Given the description of an element on the screen output the (x, y) to click on. 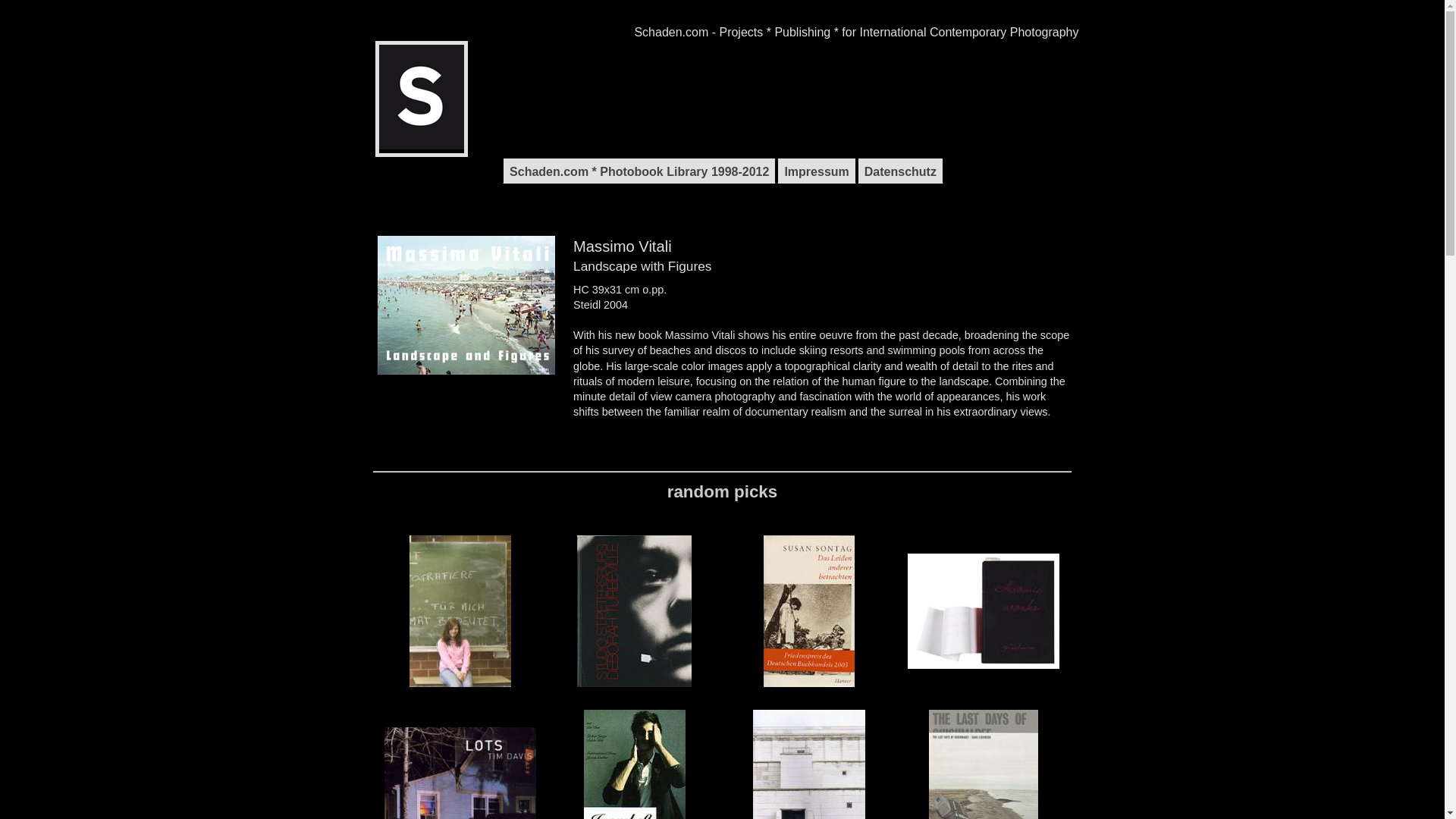
Datenschutz (900, 170)
Impressum (816, 170)
